Given the description of an element on the screen output the (x, y) to click on. 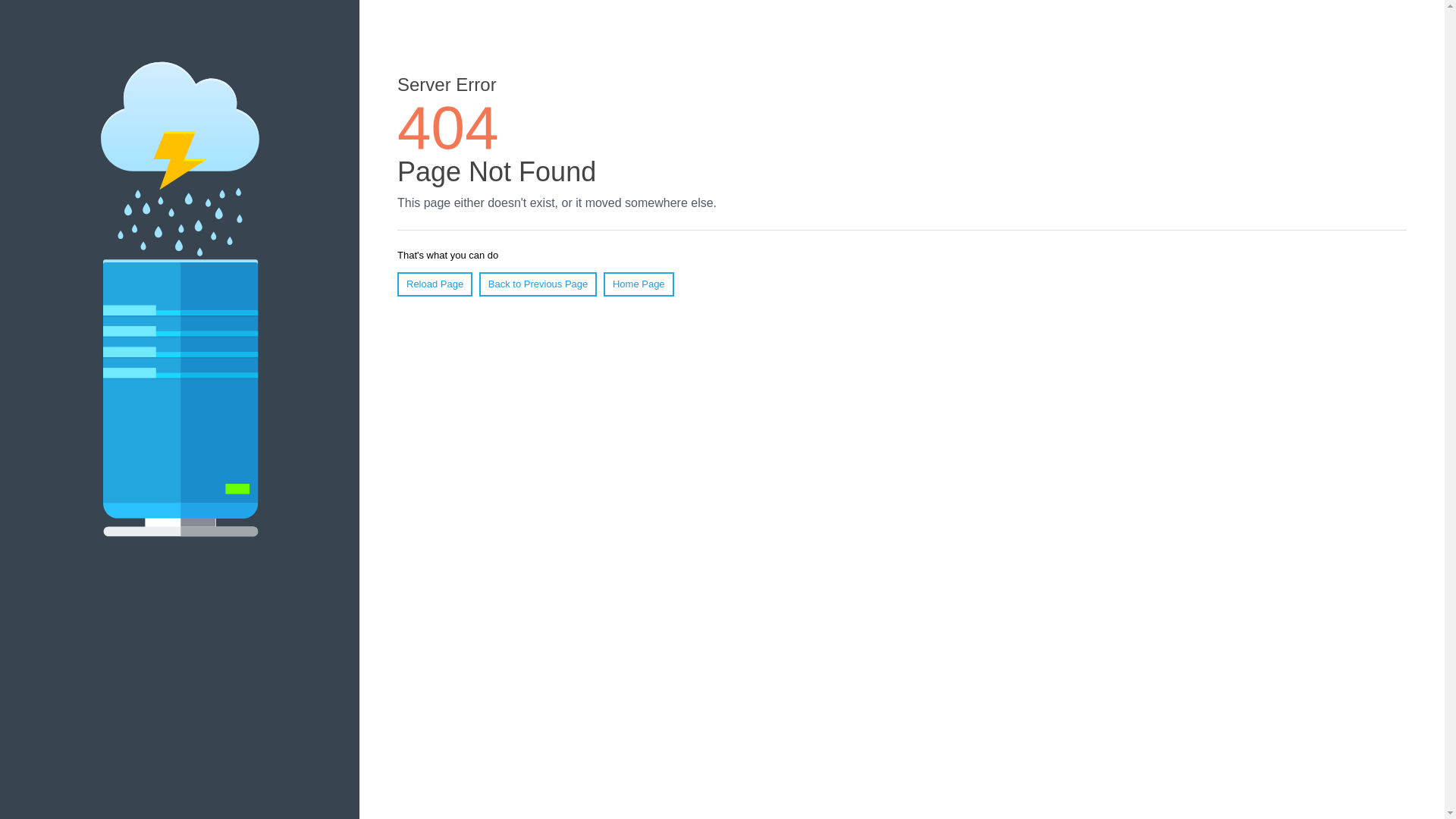
Reload Page (434, 283)
Home Page (639, 283)
Back to Previous Page (537, 283)
